Given the description of an element on the screen output the (x, y) to click on. 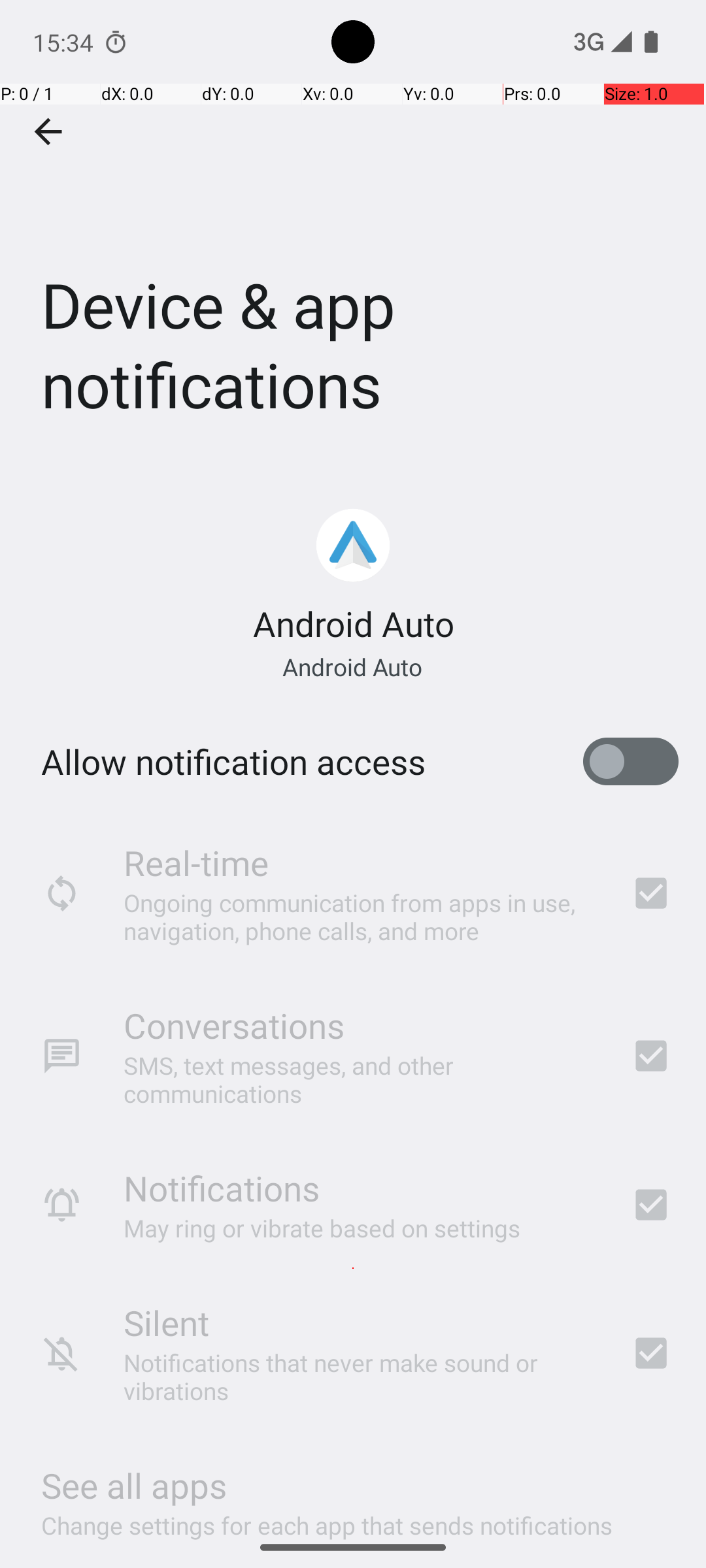
Allow notification access Element type: android.widget.TextView (233, 761)
Real-time Element type: android.widget.TextView (195, 862)
Ongoing communication from apps in use, navigation, phone calls, and more Element type: android.widget.TextView (359, 916)
SMS, text messages, and other communications Element type: android.widget.TextView (359, 1079)
May ring or vibrate based on settings Element type: android.widget.TextView (322, 1227)
Notifications that never make sound or vibrations Element type: android.widget.TextView (359, 1376)
See all apps Element type: android.widget.TextView (133, 1485)
Change settings for each app that sends notifications Element type: android.widget.TextView (326, 1517)
